Given the description of an element on the screen output the (x, y) to click on. 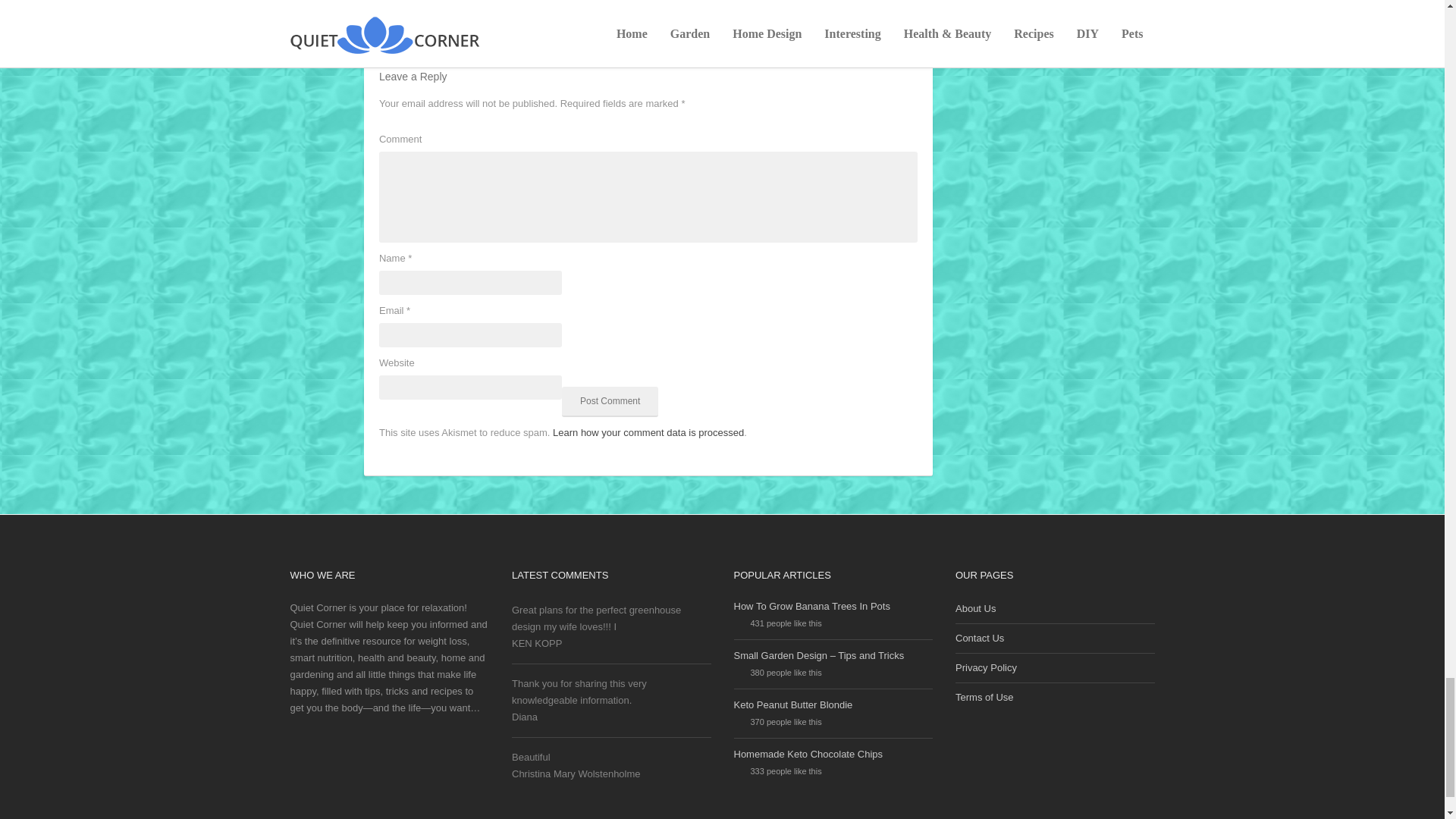
Post Comment (610, 401)
